Given the description of an element on the screen output the (x, y) to click on. 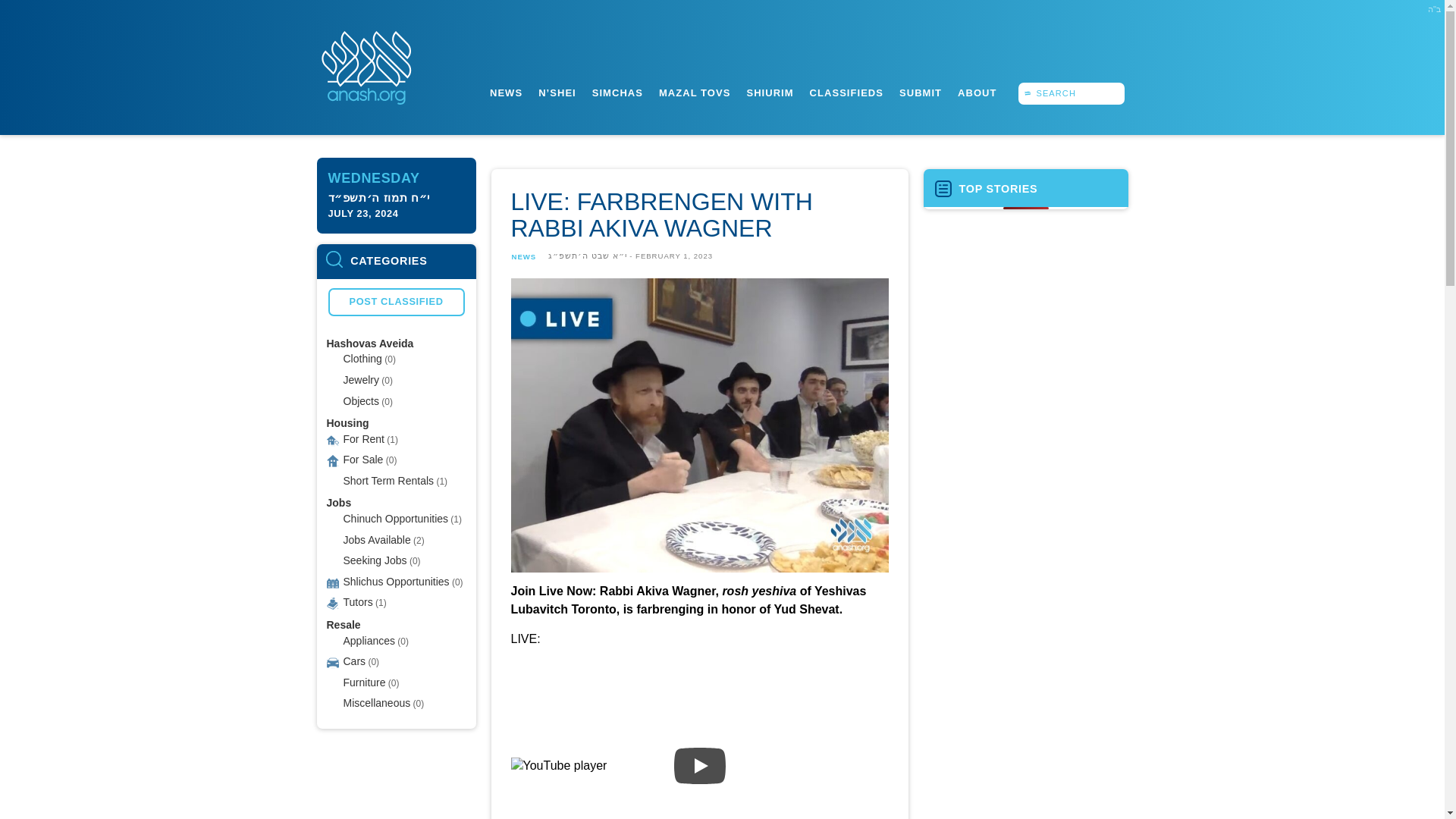
Hashovas Aveida (369, 343)
SUBMIT (919, 93)
CATEGORIES (396, 261)
Jobs Available (376, 539)
NEWS (505, 93)
POST CLASSIFIED (395, 302)
Tutors (357, 601)
CLASSIFIEDS (846, 93)
ABOUT (976, 93)
For Rent (363, 438)
Clothing (361, 358)
Objects (360, 401)
Seeking Jobs (374, 560)
Housing (347, 422)
For Sale (362, 459)
